Given the description of an element on the screen output the (x, y) to click on. 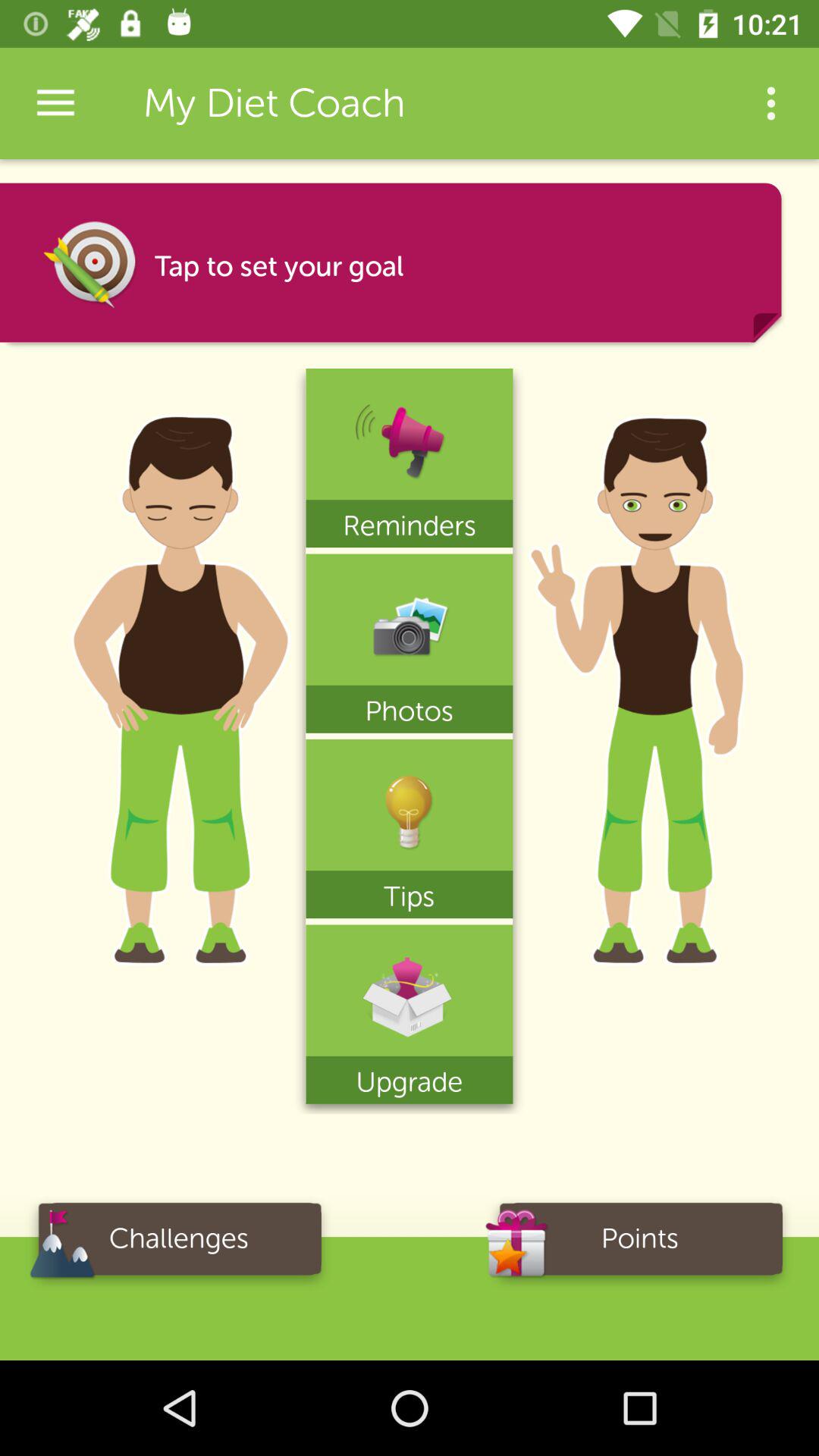
click on the second image of boy (638, 667)
